Given the description of an element on the screen output the (x, y) to click on. 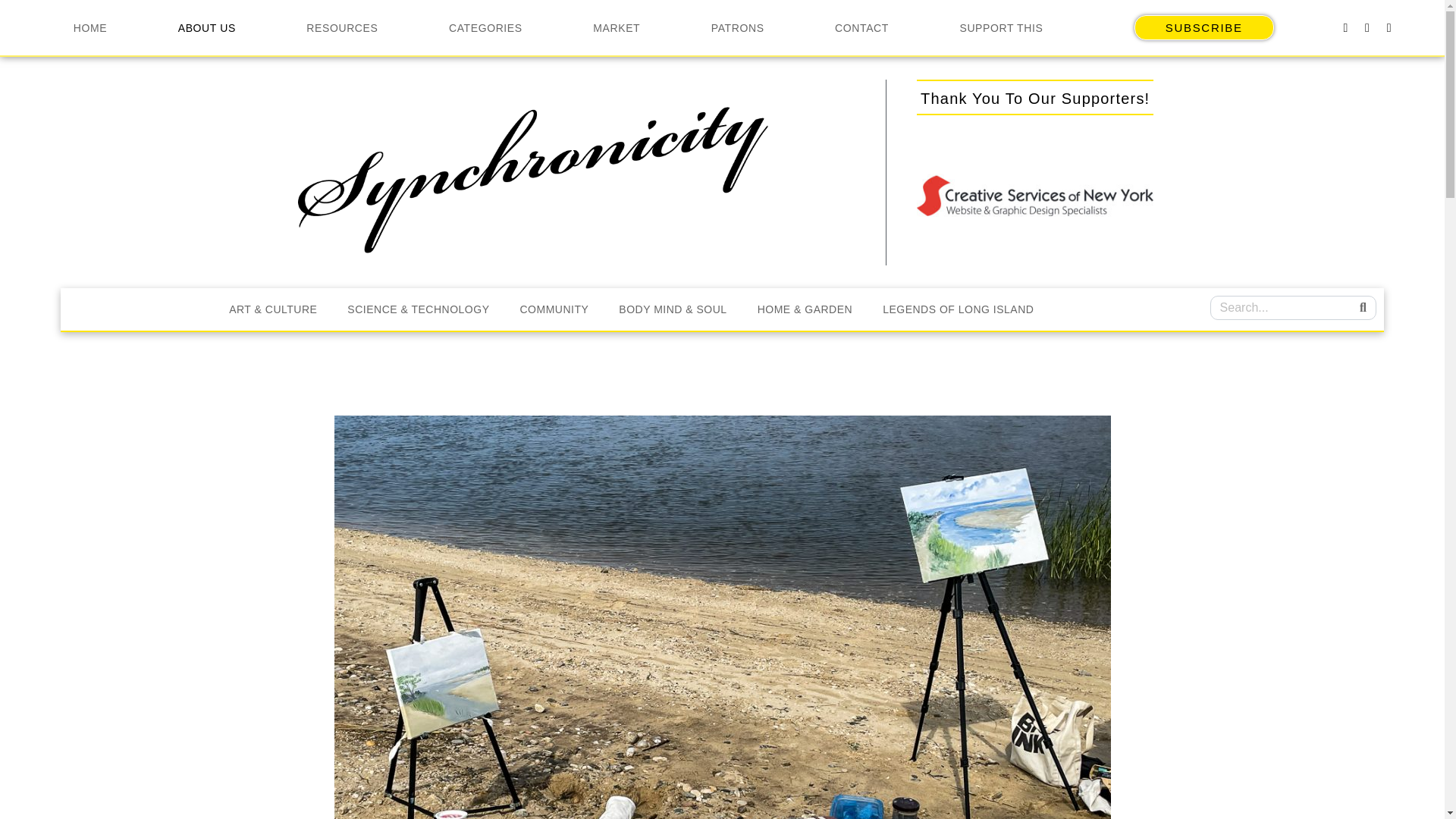
PATRONS (736, 26)
SUPPORT THIS (1000, 26)
ABOUT US (206, 26)
MARKET (616, 26)
CATEGORIES (485, 26)
RESOURCES (342, 26)
HOME (90, 26)
CONTACT (861, 26)
